Given the description of an element on the screen output the (x, y) to click on. 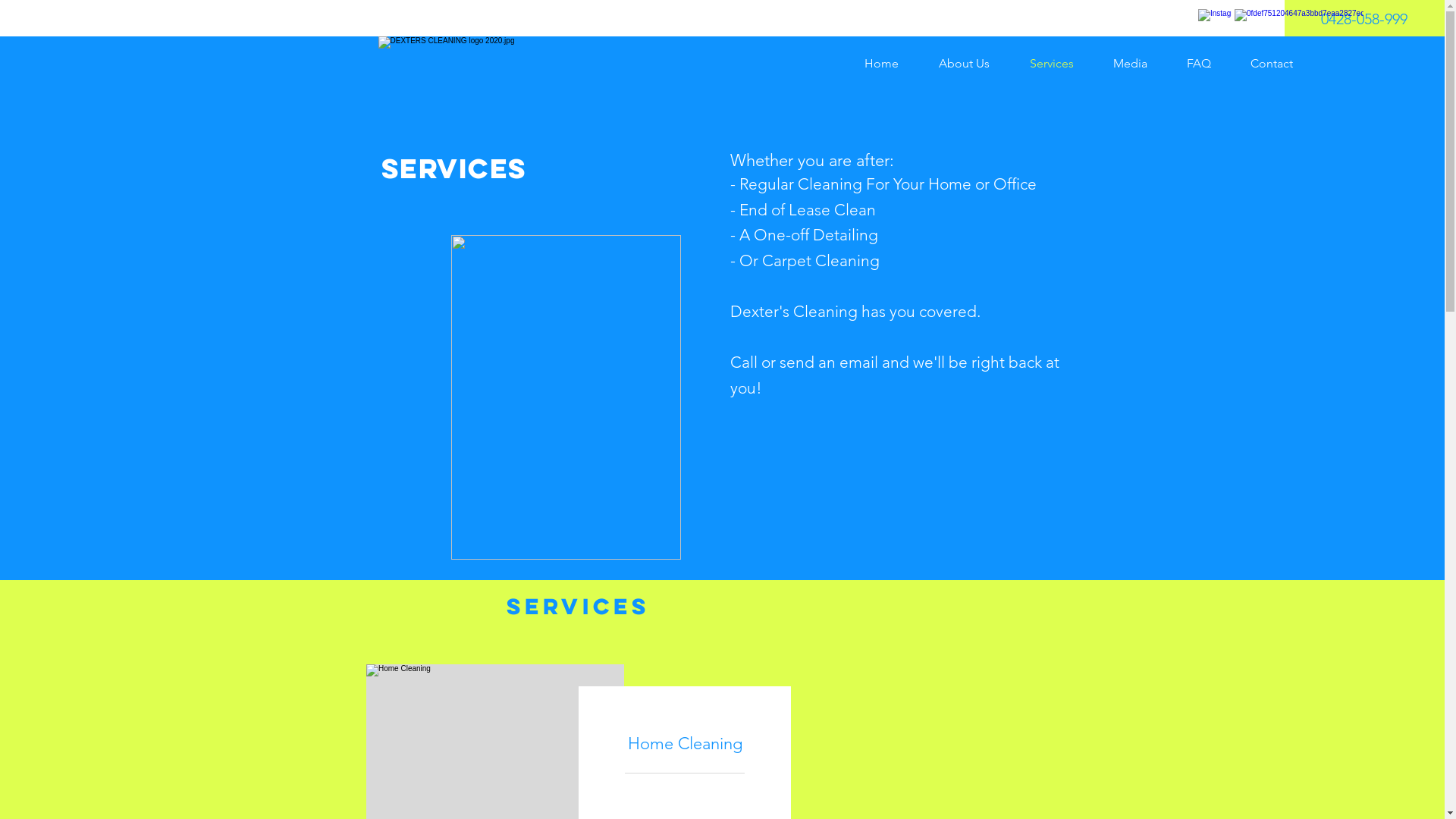
Services Element type: text (1059, 63)
DC-End of Lease-1-page-001.jpg Element type: hover (565, 397)
Contact Element type: text (1280, 63)
Media Element type: text (1138, 63)
Home Cleaning Element type: text (684, 743)
About Us Element type: text (972, 63)
FAQ Element type: text (1207, 63)
Home Element type: text (890, 63)
